Given the description of an element on the screen output the (x, y) to click on. 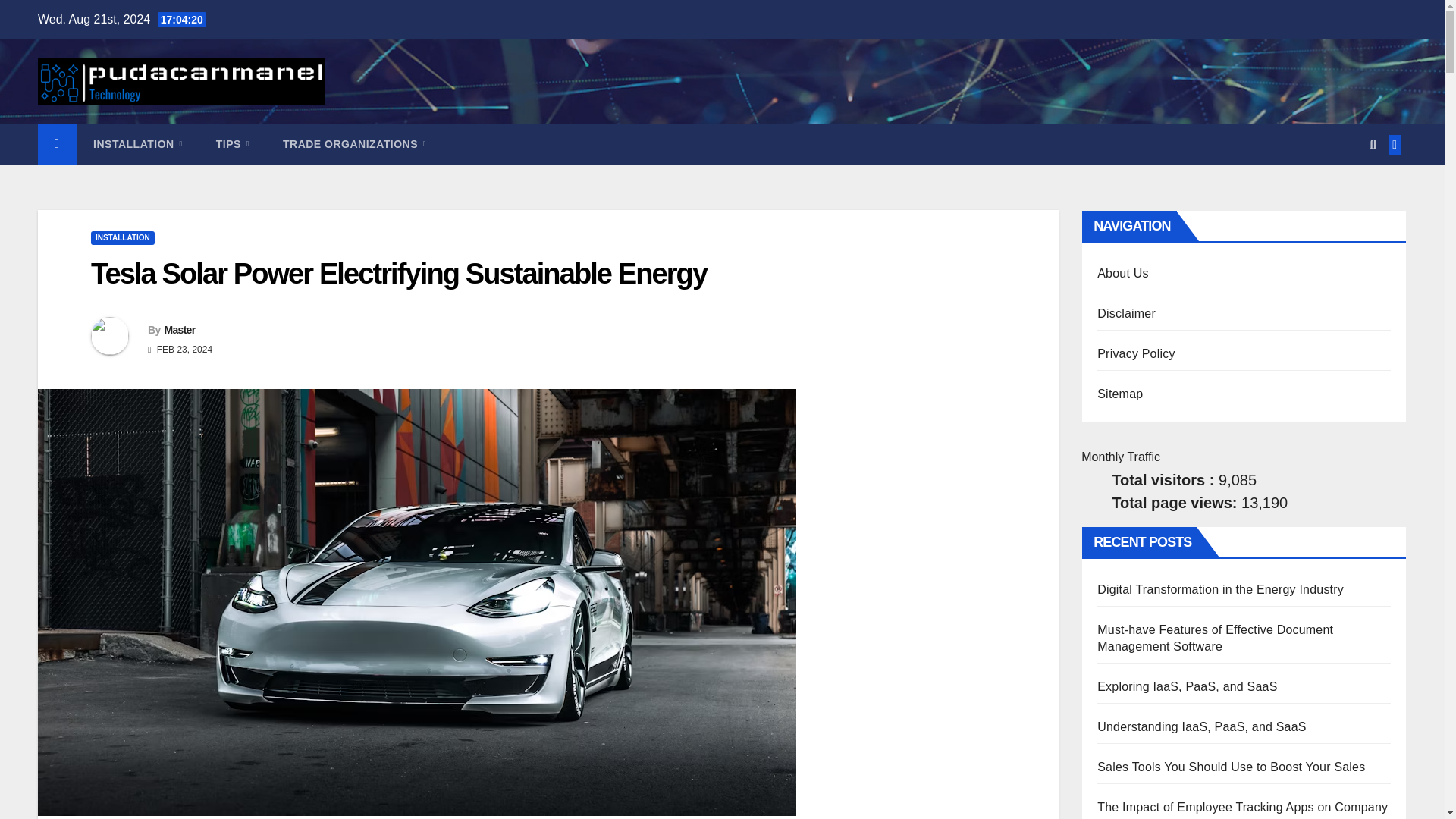
INSTALLATION (138, 143)
Tesla Solar Power Electrifying Sustainable Energy (398, 273)
TRADE ORGANIZATIONS (354, 143)
INSTALLATION (122, 237)
TIPS (232, 143)
Master (179, 329)
Tips (232, 143)
Installation (138, 143)
